Given the description of an element on the screen output the (x, y) to click on. 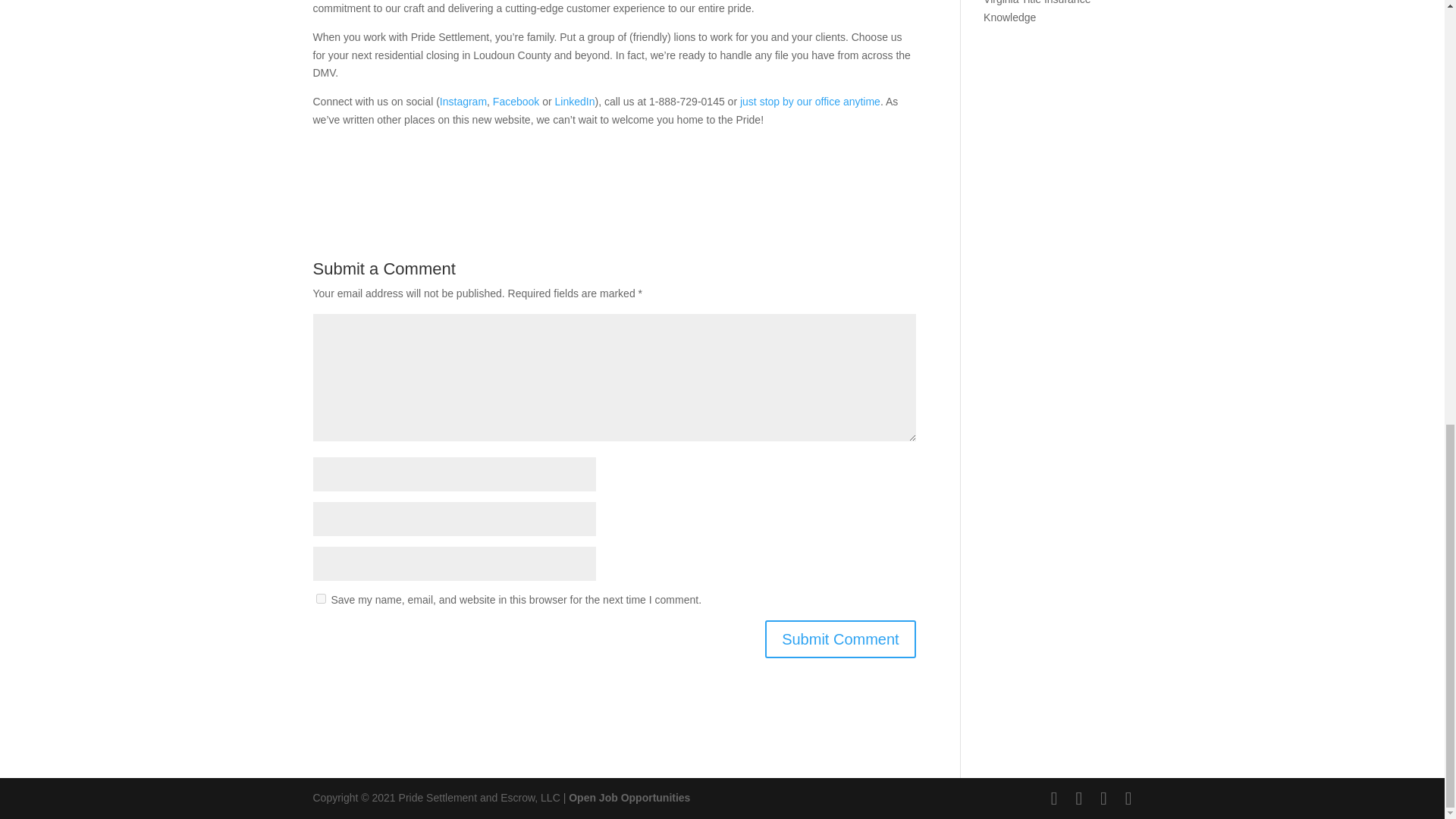
LinkedIn (574, 101)
Instagram (462, 101)
Facebook (515, 101)
Virginia Title Insurance Knowledge (1037, 11)
Submit Comment (840, 638)
Submit Comment (840, 638)
just stop by our office anytime (809, 101)
yes (319, 598)
